Given the description of an element on the screen output the (x, y) to click on. 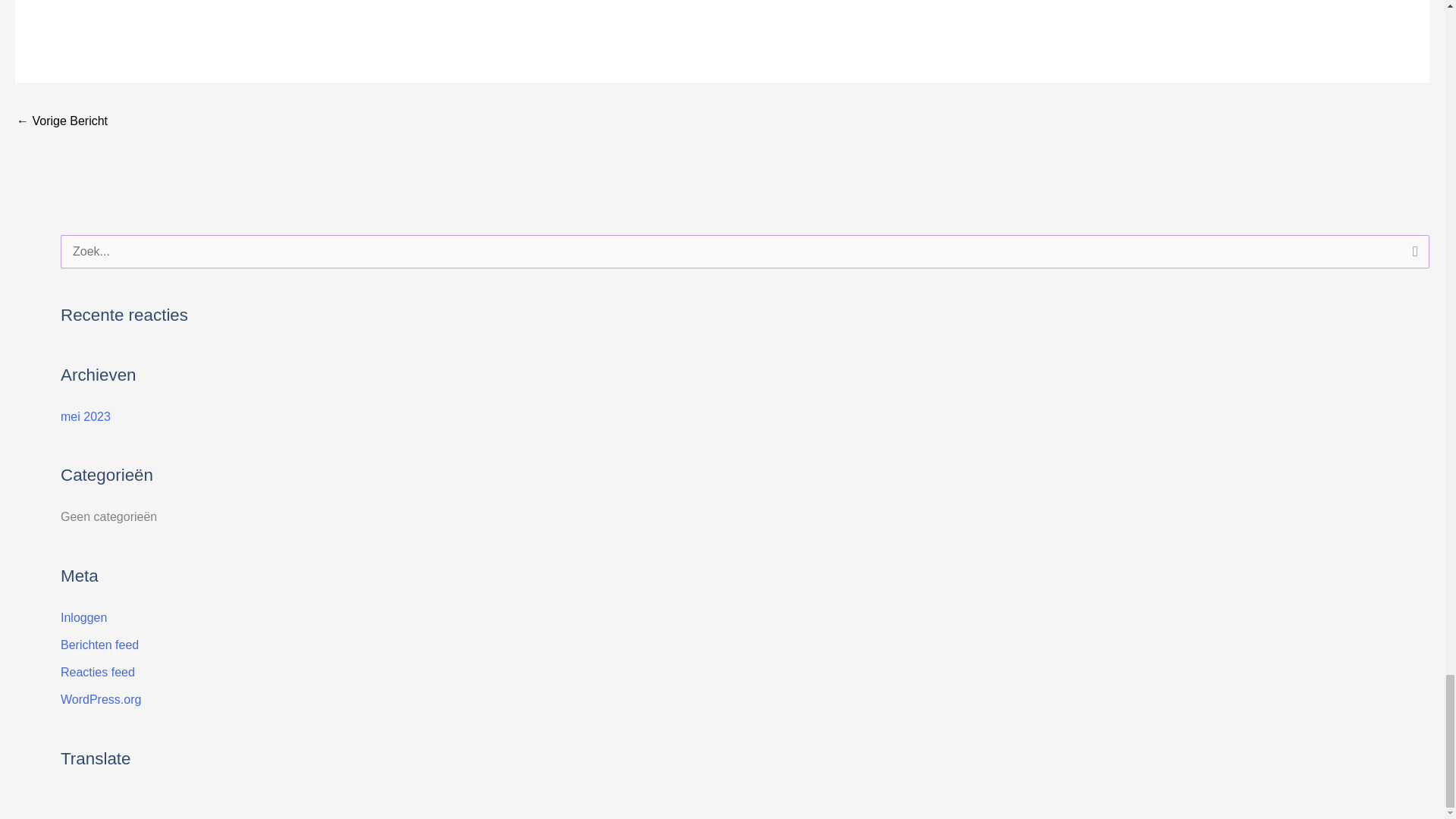
Inloggen (83, 617)
How Do I Withdraw My Eye Of Horus Megaways Winnings Online (61, 122)
Reacties feed (98, 671)
mei 2023 (85, 416)
Berichten feed (99, 644)
WordPress.org (101, 698)
